Given the description of an element on the screen output the (x, y) to click on. 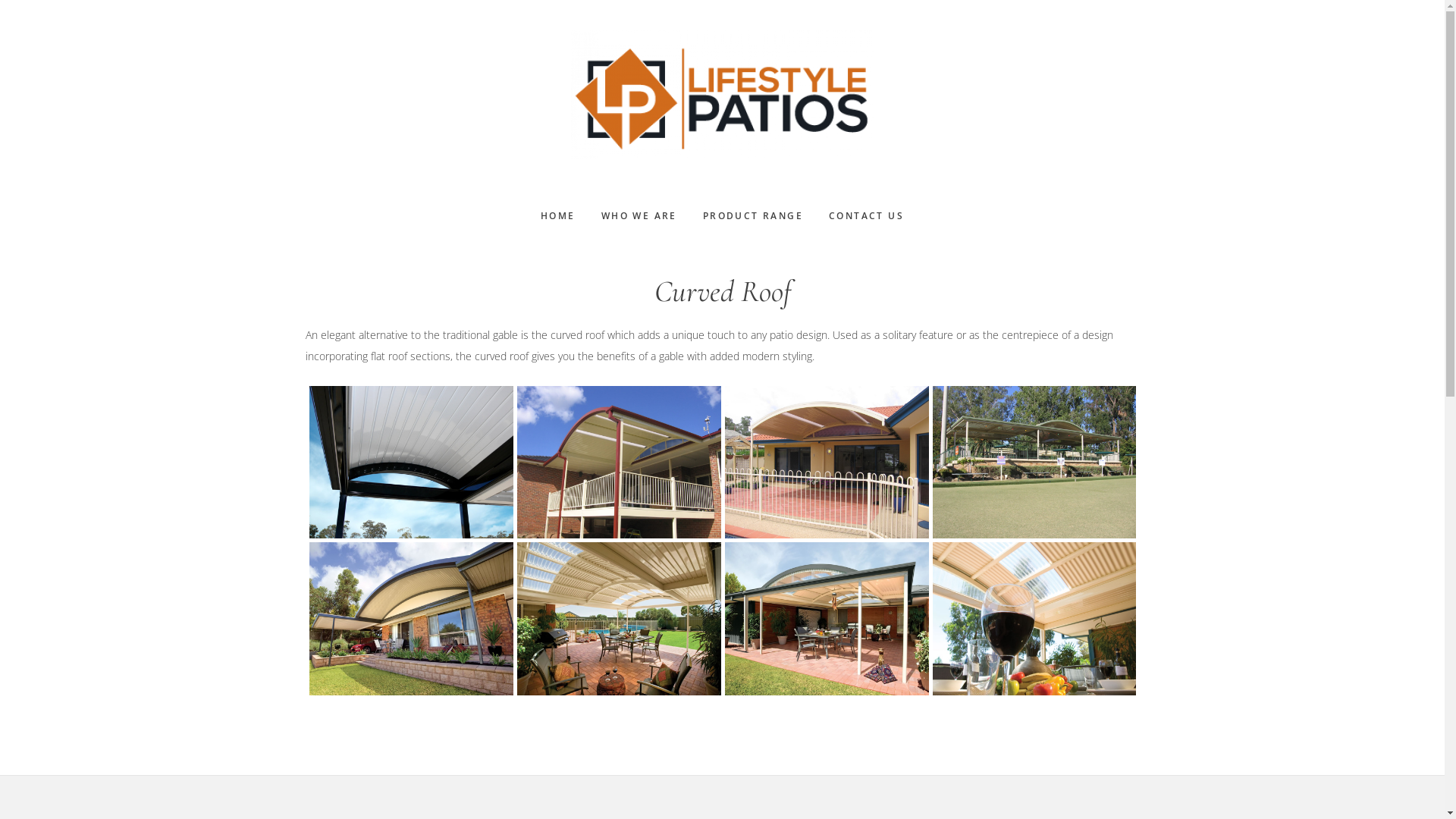
WHO WE ARE Element type: text (638, 215)
Lifestyle Patios Element type: text (721, 94)
curved03 Element type: hover (826, 618)
curved04 Element type: hover (1033, 618)
curved-clearspan2 Element type: hover (411, 461)
HOME Element type: text (557, 215)
Skip to main content Element type: text (0, 0)
PRODUCT RANGE Element type: text (752, 215)
trahair-1 Element type: hover (826, 461)
CONTACT US Element type: text (866, 215)
stead Element type: hover (619, 461)
curved02 Element type: hover (619, 618)
tumut-bowlie Element type: hover (1033, 461)
curved01 Element type: hover (411, 618)
